Given the description of an element on the screen output the (x, y) to click on. 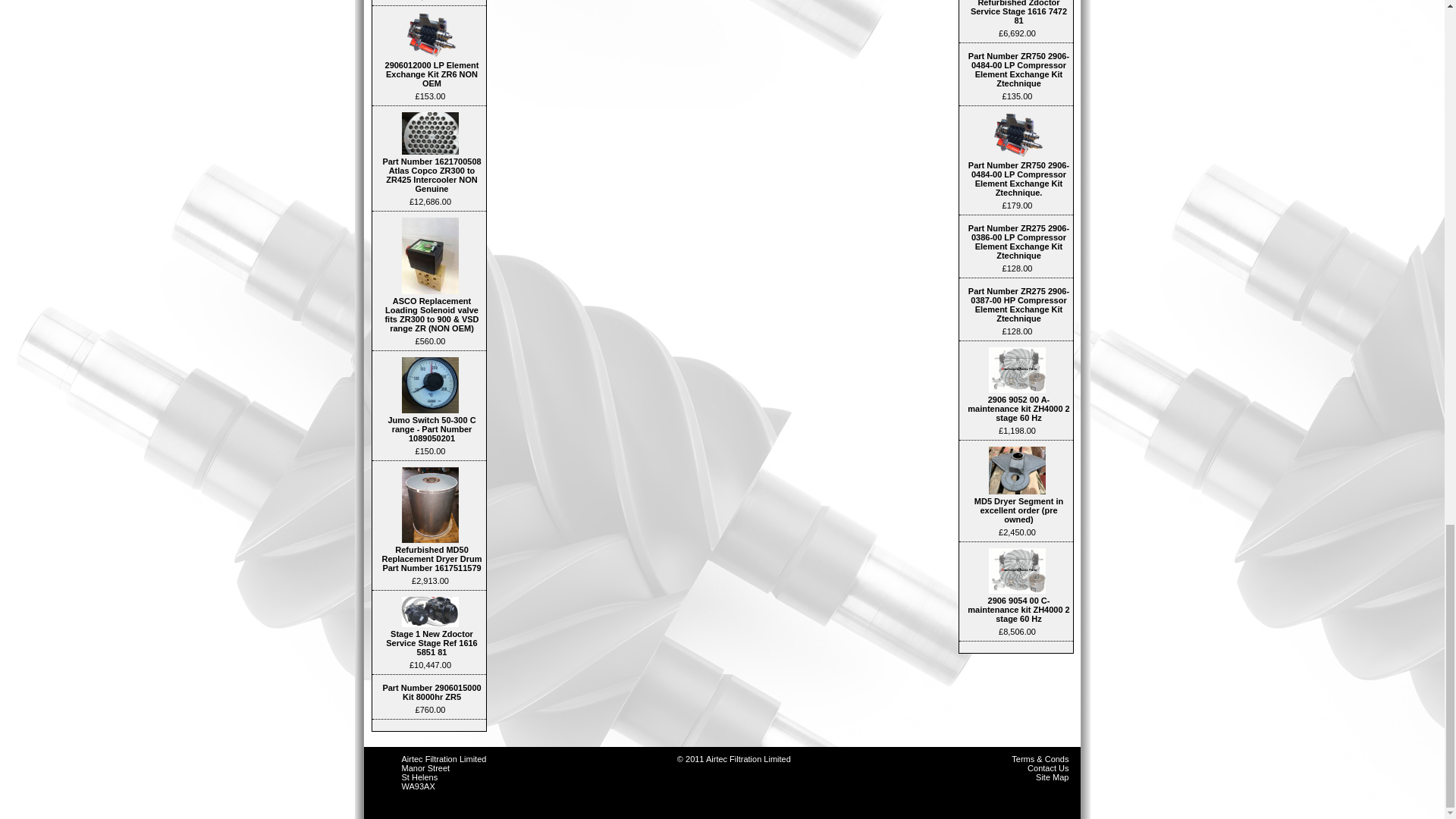
Jumo Switch 50-300 C range - Part Number 1089050201 (429, 385)
Stage 1 New Zdoctor Service Stage Ref 1616 5851 81 (429, 611)
2906012000 LP Element Exchange Kit ZR6 NON OEM (429, 35)
